Given the description of an element on the screen output the (x, y) to click on. 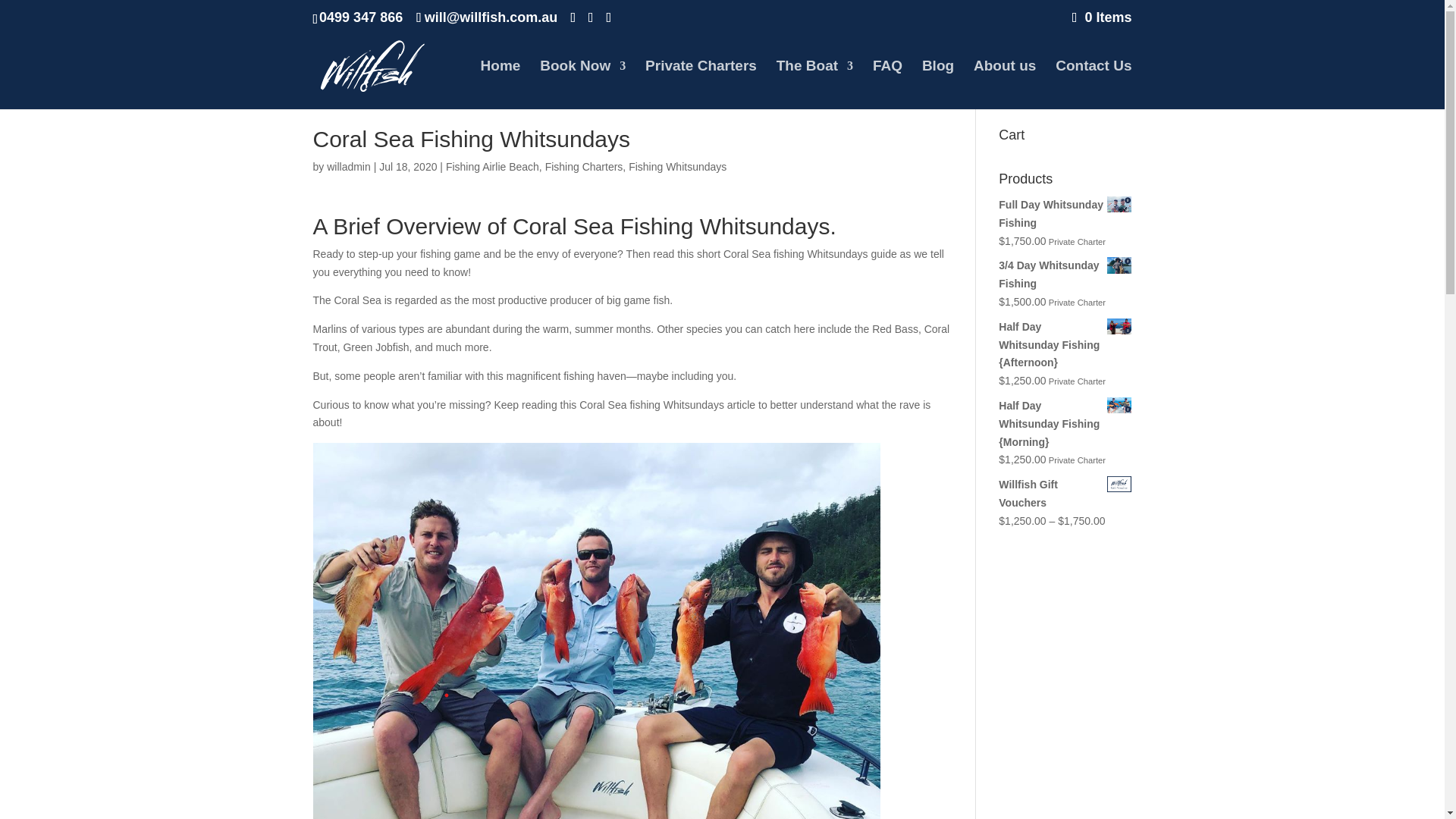
Willfish Gift Vouchers (1064, 493)
Fishing Whitsundays (677, 166)
Book Now (583, 84)
Contact Us (1093, 84)
The Boat (814, 84)
Full Day Whitsunday Fishing (1064, 214)
Fishing Charters (583, 166)
Private Charters (701, 84)
About us (1004, 84)
Fishing Airlie Beach (491, 166)
